Given the description of an element on the screen output the (x, y) to click on. 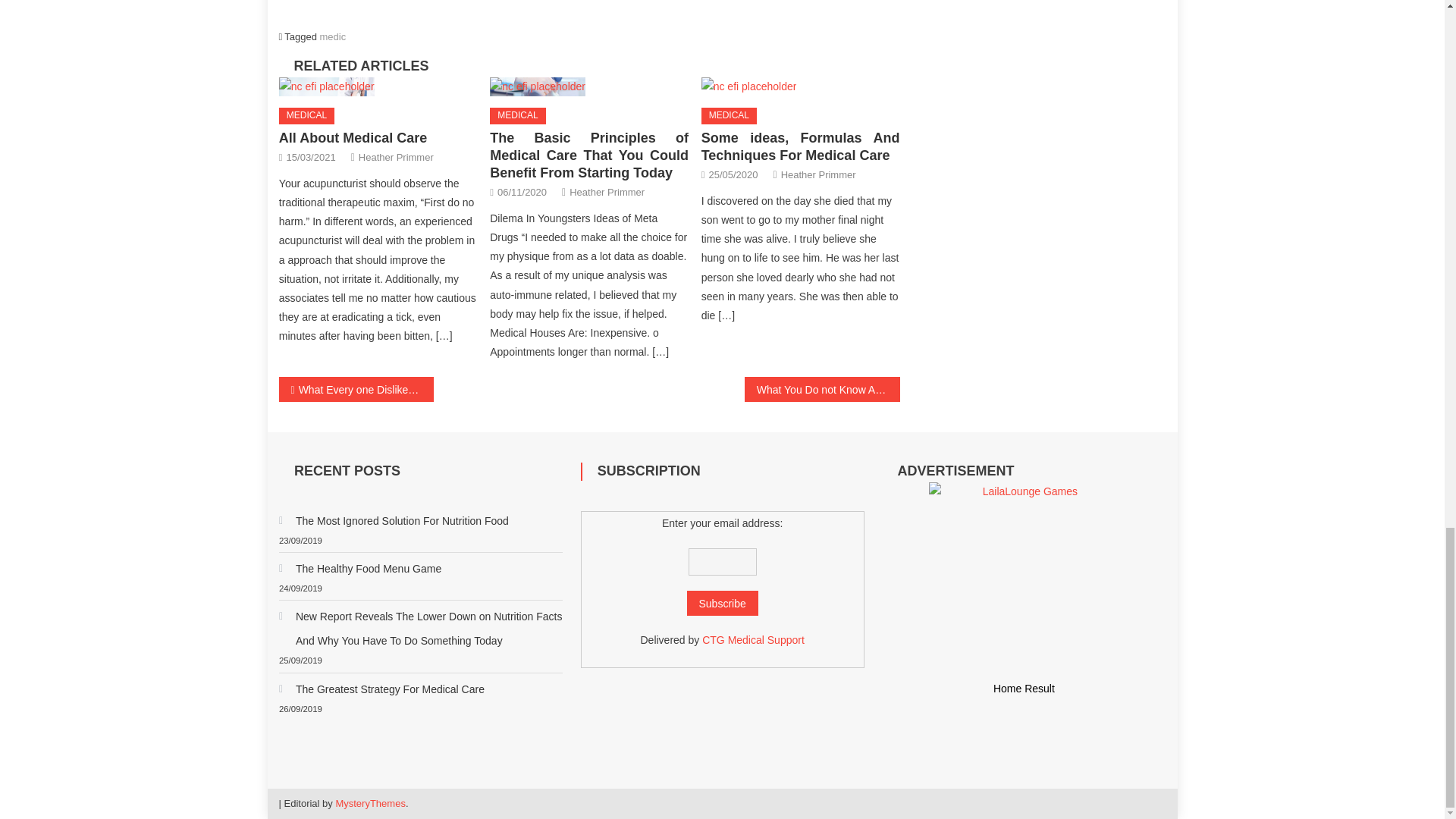
MEDICAL (729, 115)
medic (333, 36)
Heather Primmer (607, 191)
Heather Primmer (395, 157)
Heather Primmer (818, 174)
What Every one Dislikes About Nutrition Facts And Why (356, 389)
Some ideas, Formulas And Techniques For Medical Care (800, 146)
All About Medical Care (378, 86)
MEDICAL (516, 115)
